Given the description of an element on the screen output the (x, y) to click on. 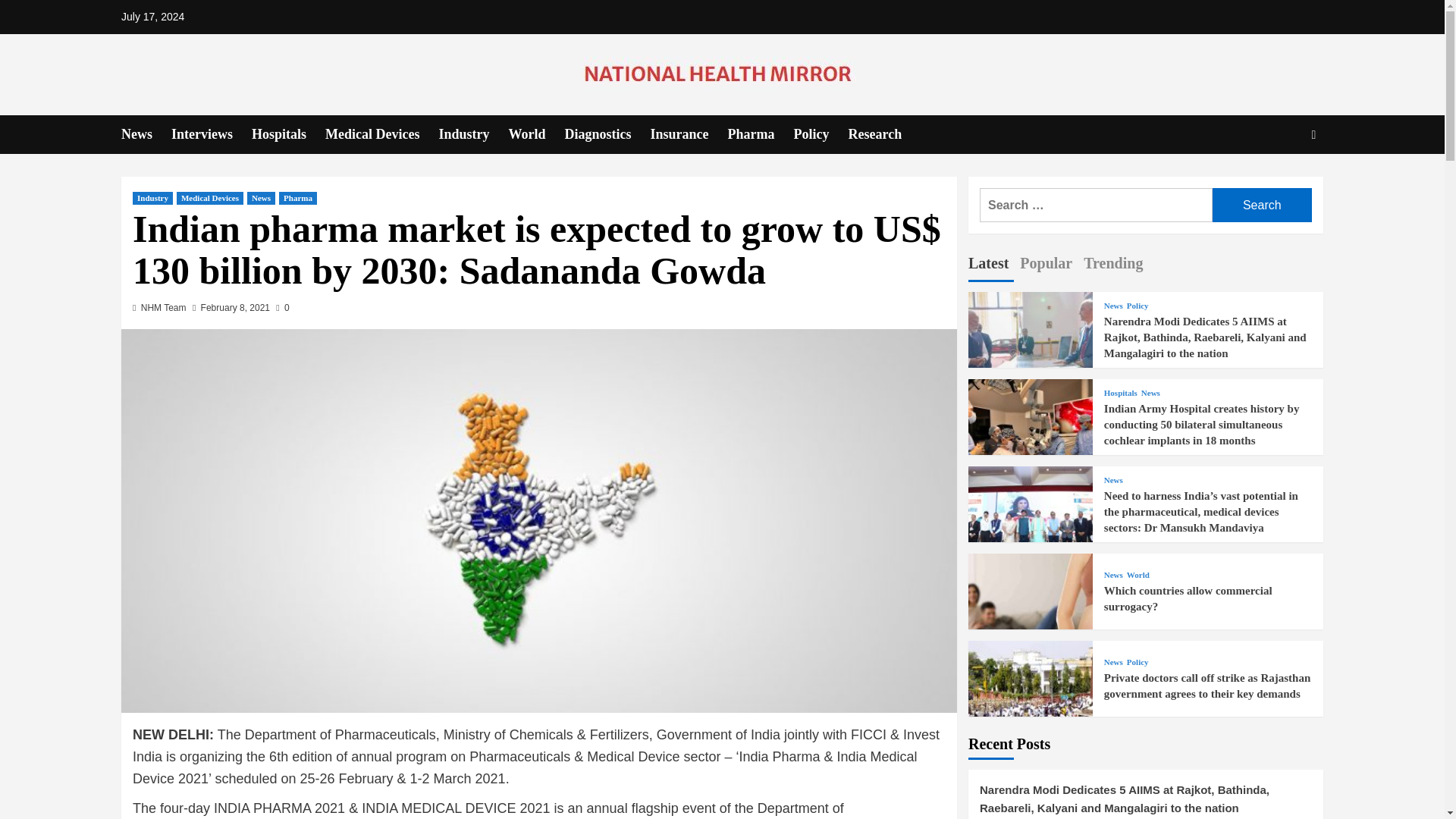
Medical Devices (209, 197)
World (536, 134)
Industry (152, 197)
News (145, 134)
February 8, 2021 (234, 307)
Hospitals (287, 134)
Search (1278, 180)
Pharma (298, 197)
Pharma (760, 134)
News (261, 197)
Medical Devices (381, 134)
Insurance (689, 134)
Interviews (211, 134)
NHM Team (163, 307)
Diagnostics (607, 134)
